Given the description of an element on the screen output the (x, y) to click on. 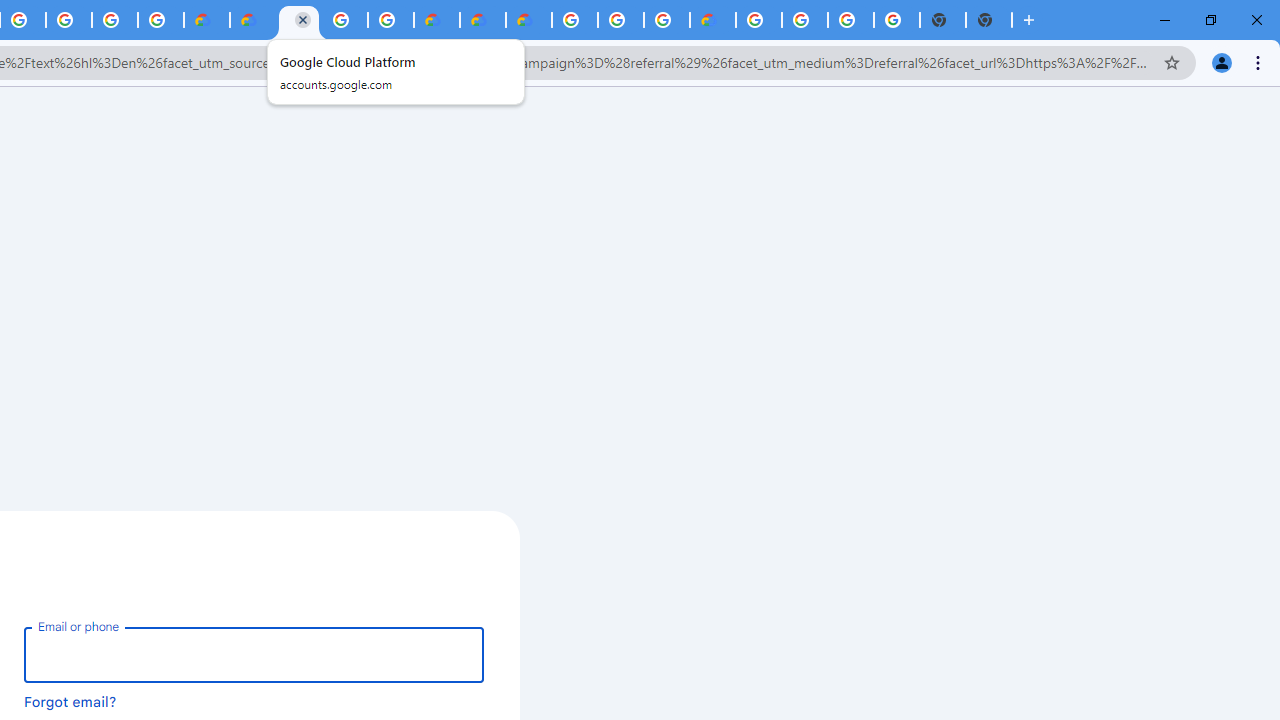
Google Cloud Platform (574, 20)
Google Cloud Platform (345, 20)
Customer Care | Google Cloud (436, 20)
Google Cloud Platform (299, 20)
Google Cloud Estimate Summary (528, 20)
Google Cloud Service Health (712, 20)
